Given the description of an element on the screen output the (x, y) to click on. 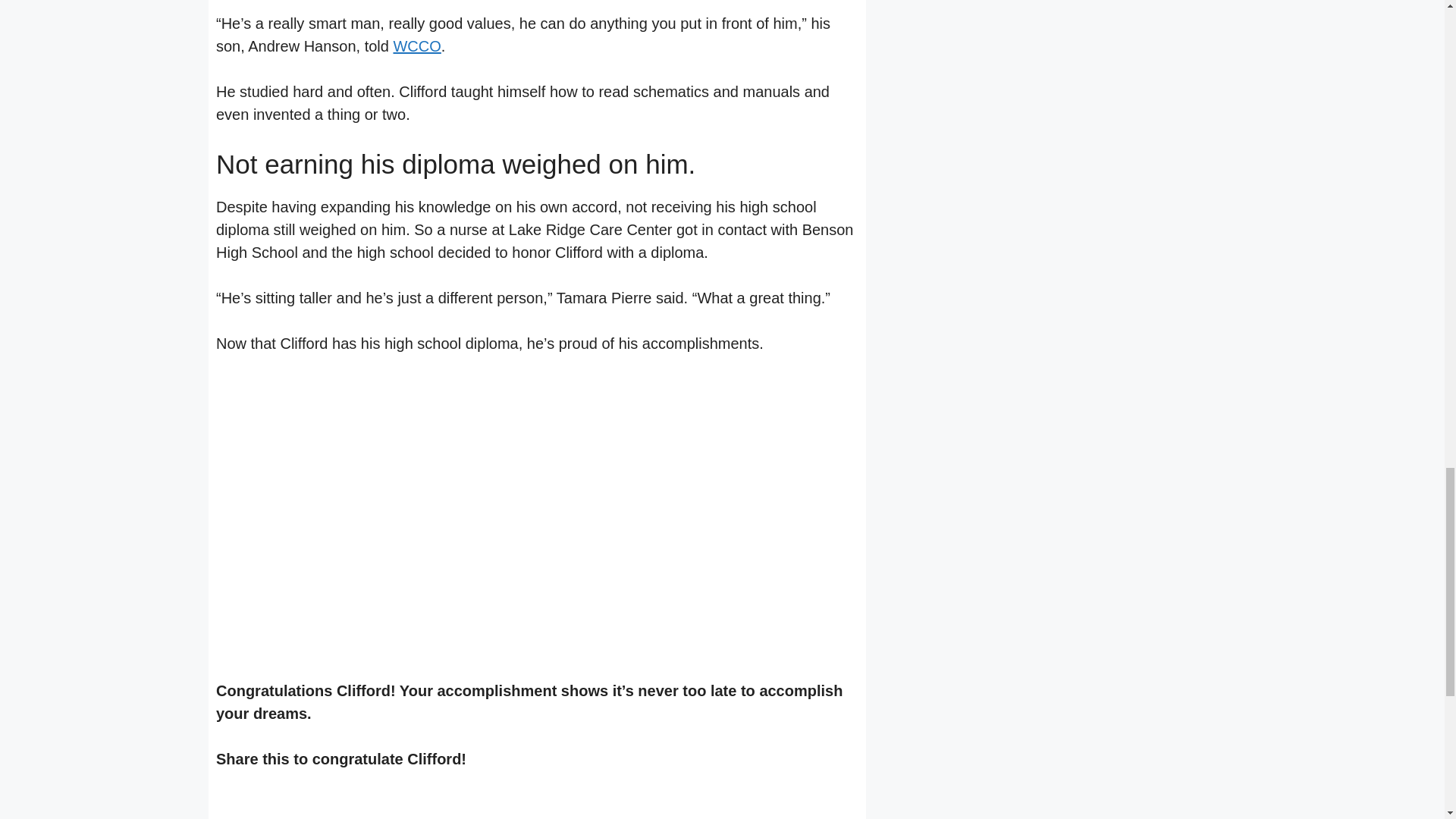
WCCO (417, 45)
